Given the description of an element on the screen output the (x, y) to click on. 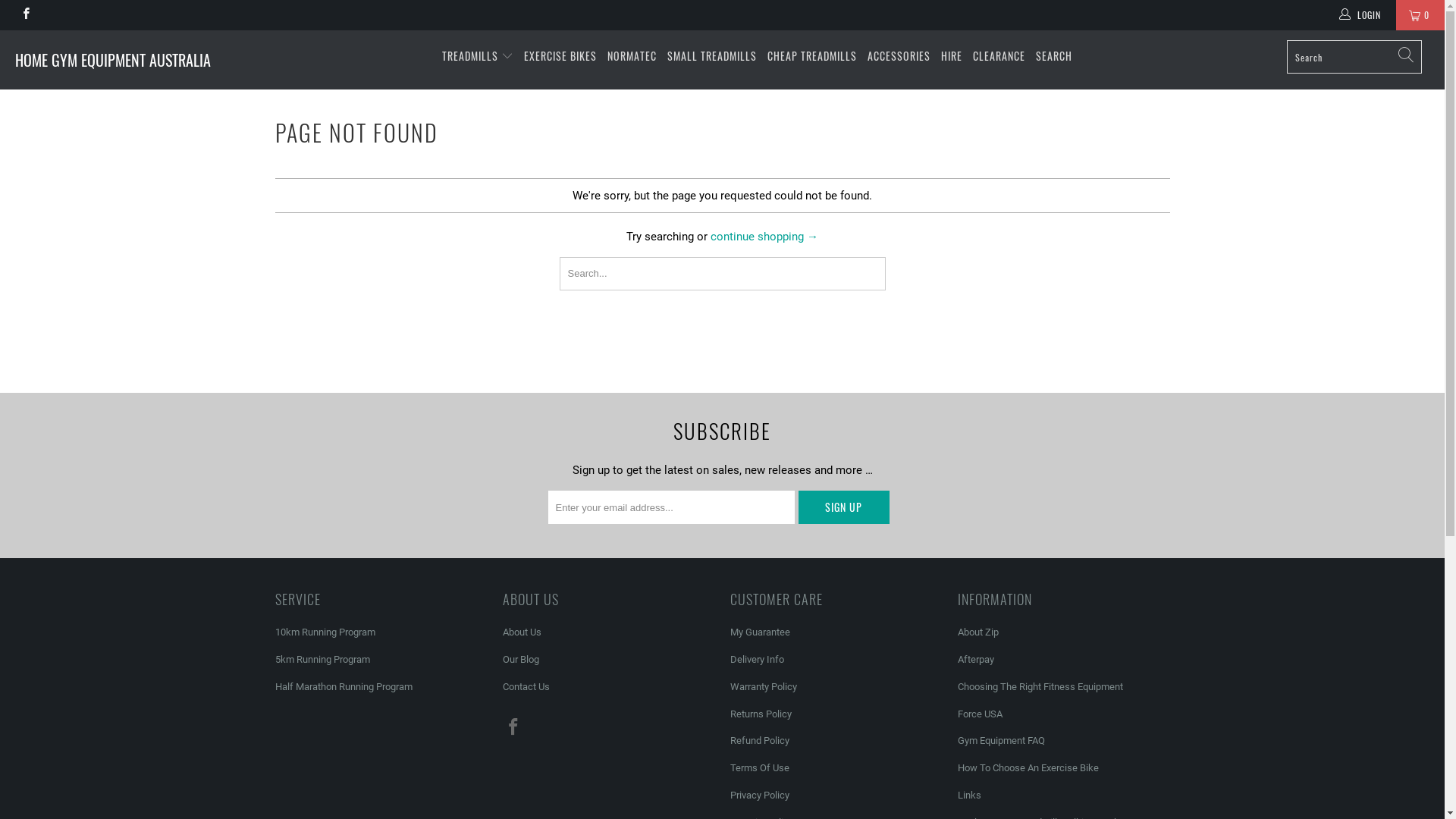
Delivery Info Element type: text (756, 659)
Returns Policy Element type: text (759, 713)
Refund Policy Element type: text (758, 740)
NORMATEC Element type: text (631, 56)
Half Marathon Running Program Element type: text (342, 686)
Force USA Element type: text (979, 713)
EXERCISE BIKES Element type: text (560, 56)
SMALL TREADMILLS Element type: text (711, 56)
Gym Equipment FAQ Element type: text (1000, 740)
CHEAP TREADMILLS Element type: text (811, 56)
Warranty Policy Element type: text (762, 686)
5km Running Program Element type: text (321, 659)
Links Element type: text (968, 794)
Our Blog Element type: text (520, 659)
0 Element type: text (1420, 15)
Sign Up Element type: text (842, 507)
10km Running Program Element type: text (324, 631)
Contact Us Element type: text (525, 686)
About Us Element type: text (521, 631)
TREADMILLS Element type: text (477, 56)
Afterpay Element type: text (975, 659)
About Zip Element type: text (977, 631)
Choosing The Right Fitness Equipment Element type: text (1039, 686)
LOGIN Element type: text (1360, 15)
SEARCH Element type: text (1053, 56)
CLEARANCE Element type: text (998, 56)
How To Choose An Exercise Bike Element type: text (1027, 767)
Terms Of Use Element type: text (758, 767)
My Guarantee Element type: text (759, 631)
ACCESSORIES Element type: text (898, 56)
Privacy Policy Element type: text (758, 794)
Home Gym Equipment Australia on Facebook Element type: hover (513, 727)
Home Gym Equipment Australia on Facebook Element type: hover (24, 14)
HIRE Element type: text (951, 56)
HOME GYM EQUIPMENT AUSTRALIA Element type: text (123, 59)
